Given the description of an element on the screen output the (x, y) to click on. 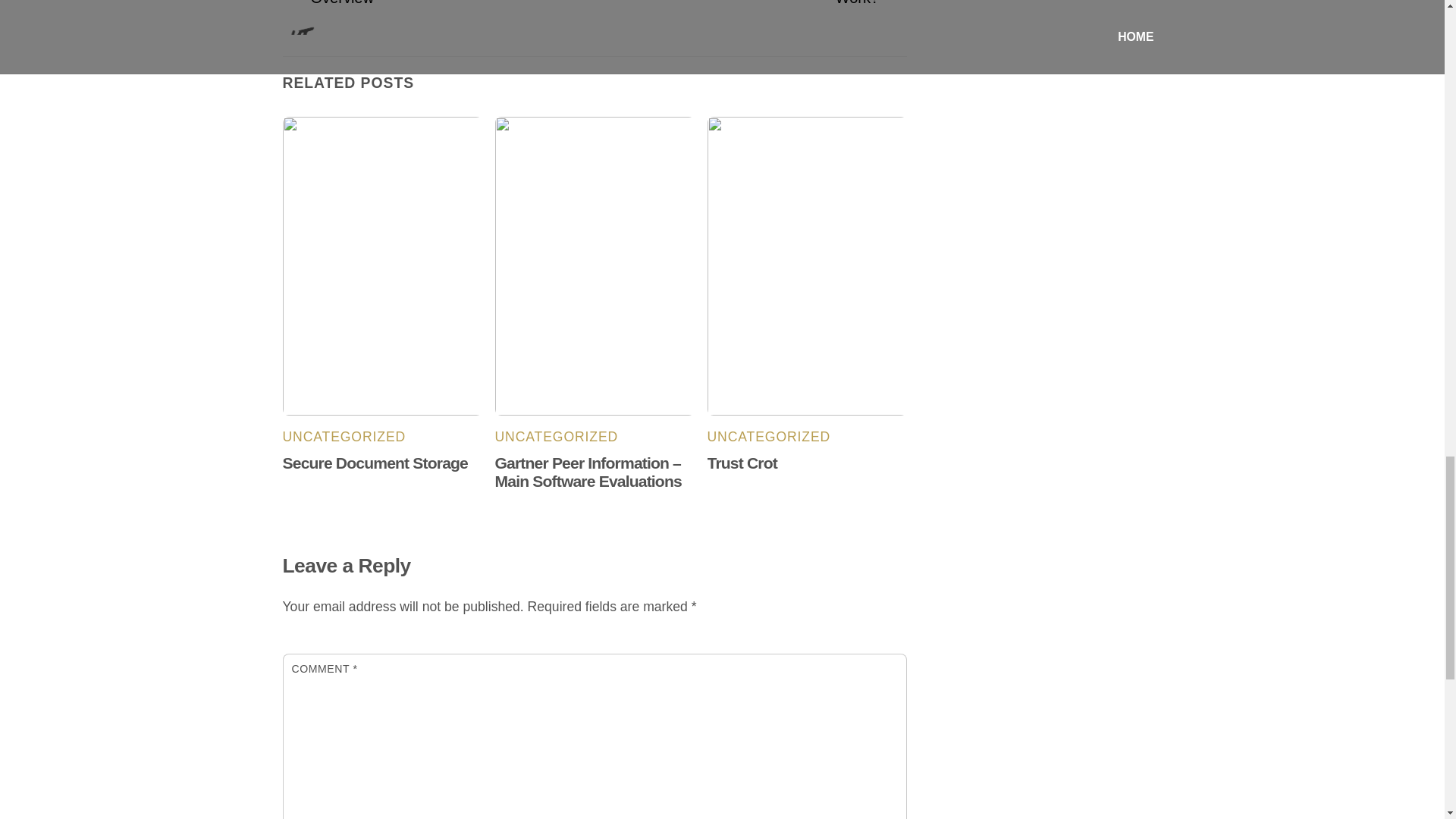
UNCATEGORIZED (556, 436)
How can Due Diligence Application Work? (745, 4)
Trust Crot (742, 462)
UNCATEGORIZED (769, 436)
UNCATEGORIZED (344, 436)
Secure Document Storage (374, 462)
